Given the description of an element on the screen output the (x, y) to click on. 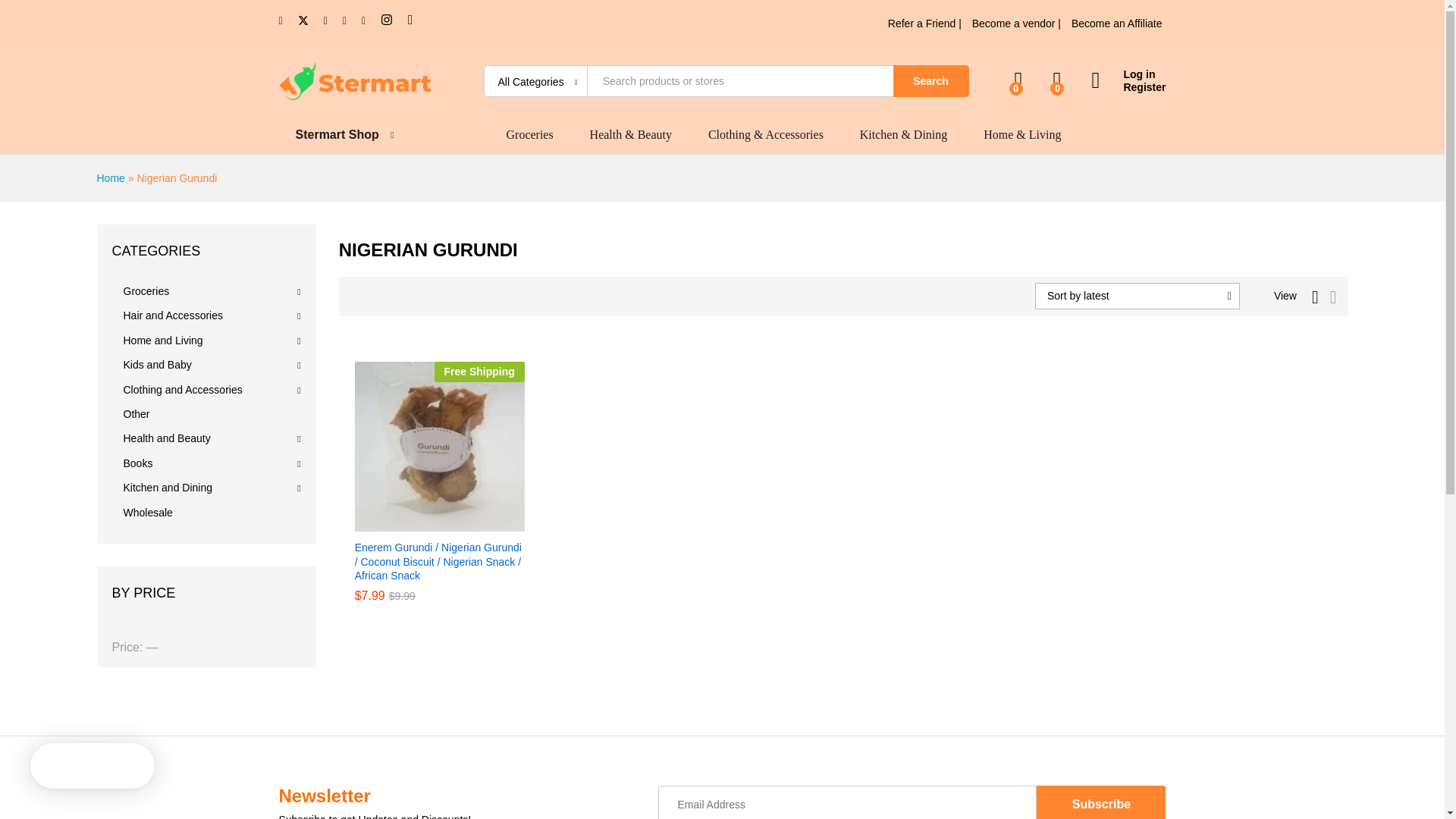
Facebook (279, 20)
Youtube (324, 20)
Log in (1128, 74)
Subscribe (1101, 802)
Stermart Shop (336, 134)
Linkedin (343, 20)
Register (1128, 87)
Become an Affiliate (1116, 23)
Search (931, 81)
Instagram (386, 19)
Pinterest (362, 20)
Whatsapp (410, 19)
Twitter (302, 20)
